Given the description of an element on the screen output the (x, y) to click on. 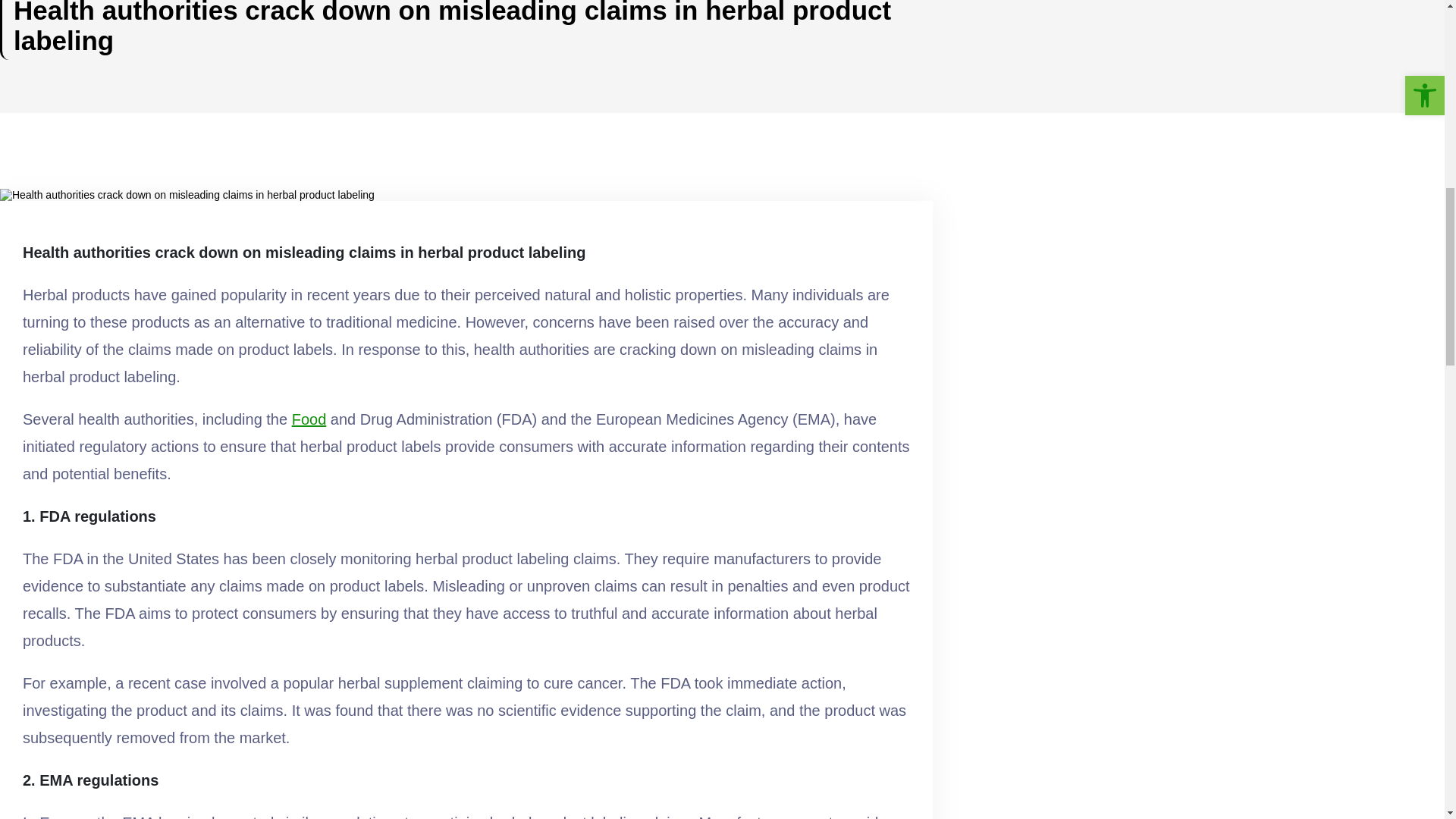
Food (309, 419)
Food (309, 419)
